Given the description of an element on the screen output the (x, y) to click on. 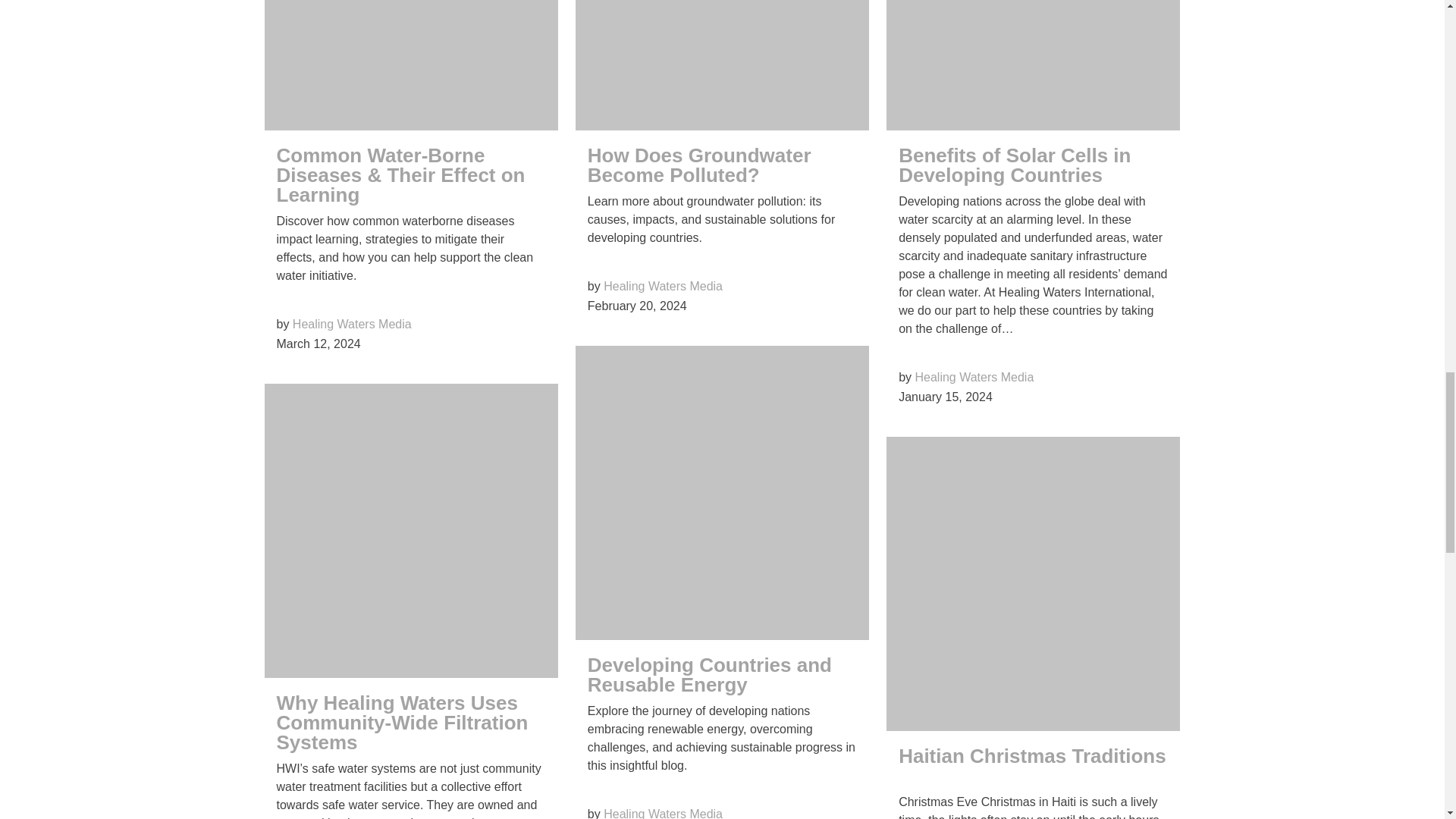
How Does Groundwater Become Polluted? (699, 165)
Healing Waters Media (352, 323)
Healing Waters Media (663, 286)
Why Healing Waters Uses Community-Wide Filtration Systems (401, 722)
